Given the description of an element on the screen output the (x, y) to click on. 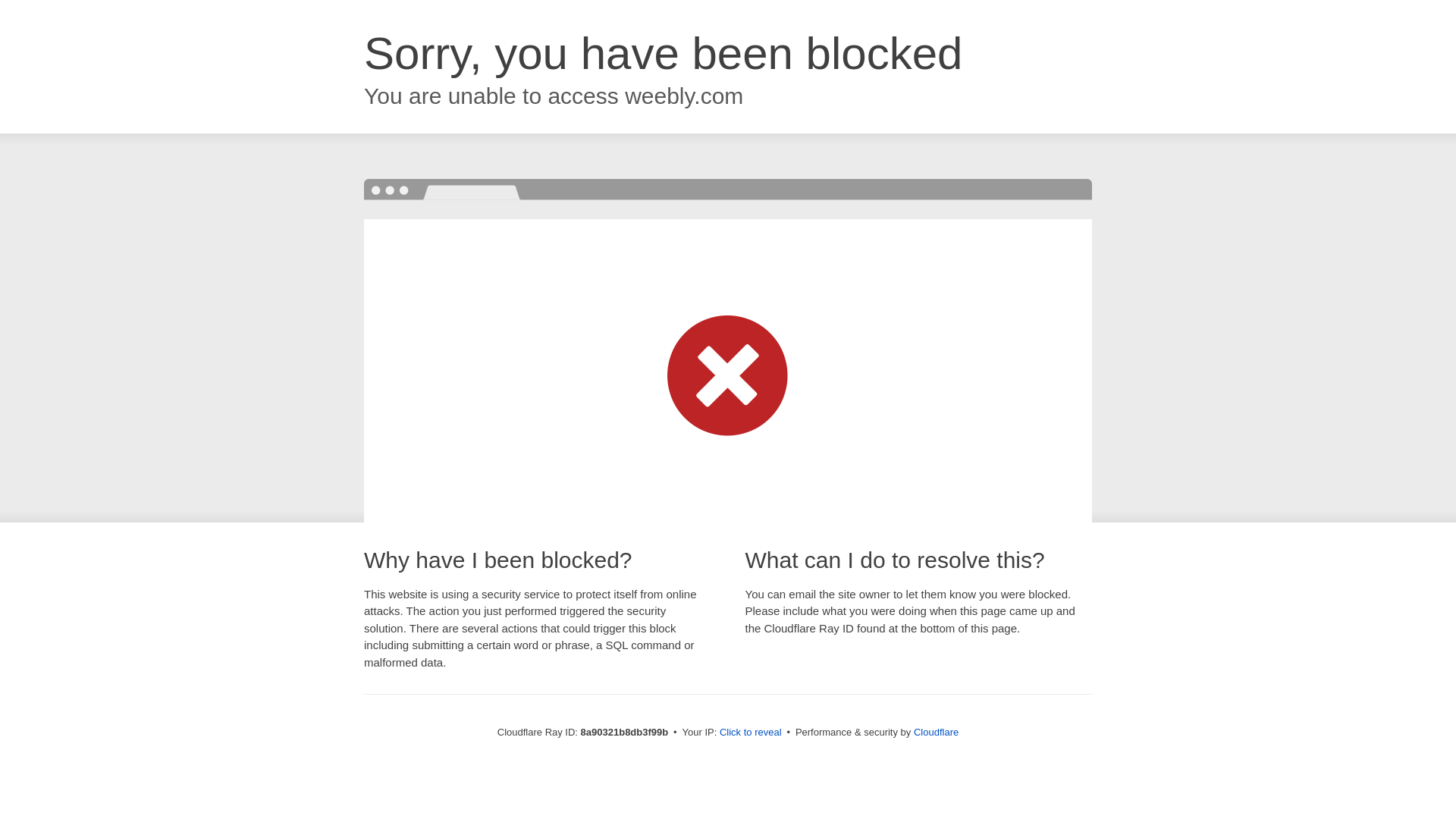
Click to reveal (750, 732)
Cloudflare (936, 731)
